Given the description of an element on the screen output the (x, y) to click on. 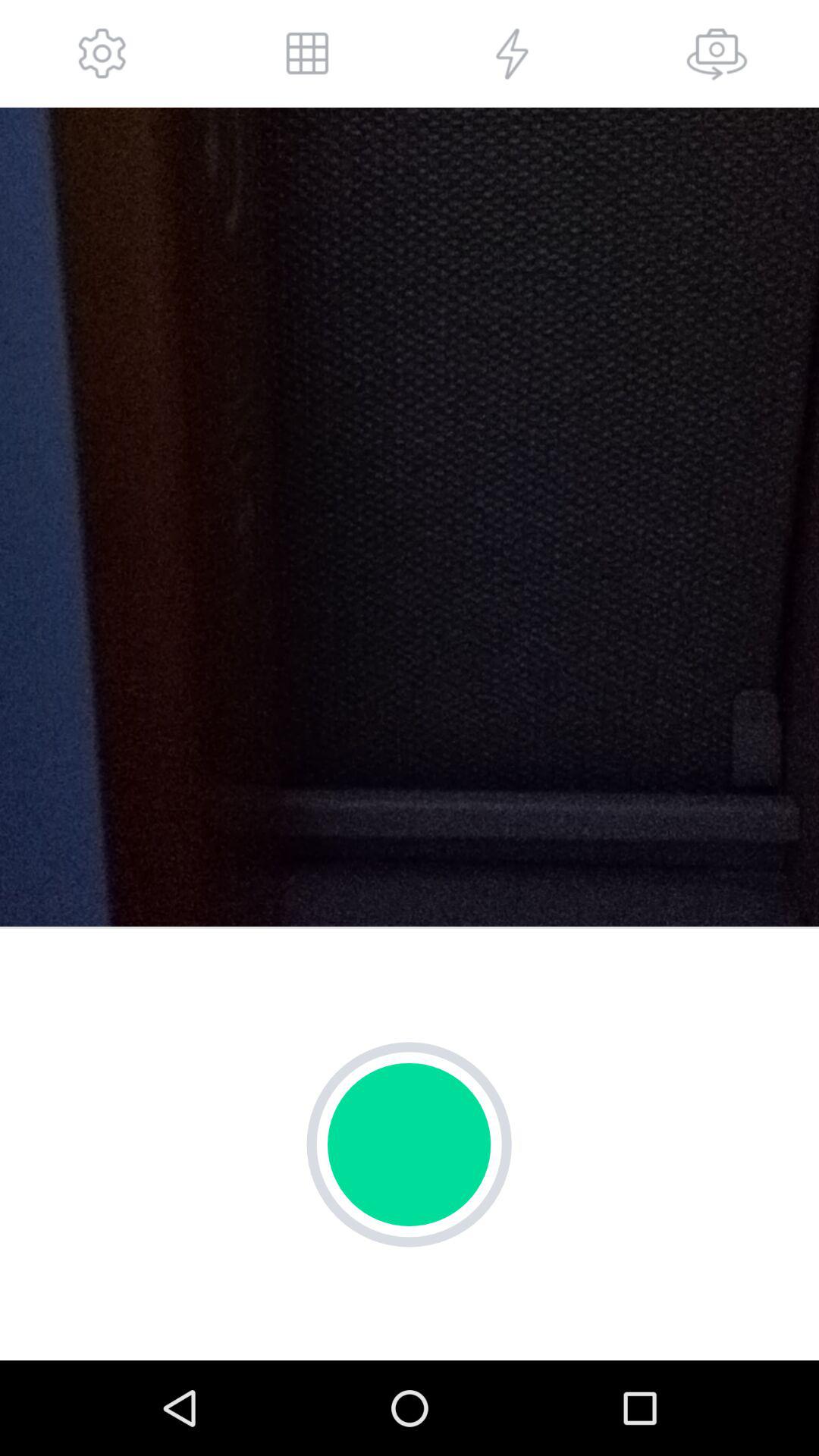
cammer (716, 53)
